Given the description of an element on the screen output the (x, y) to click on. 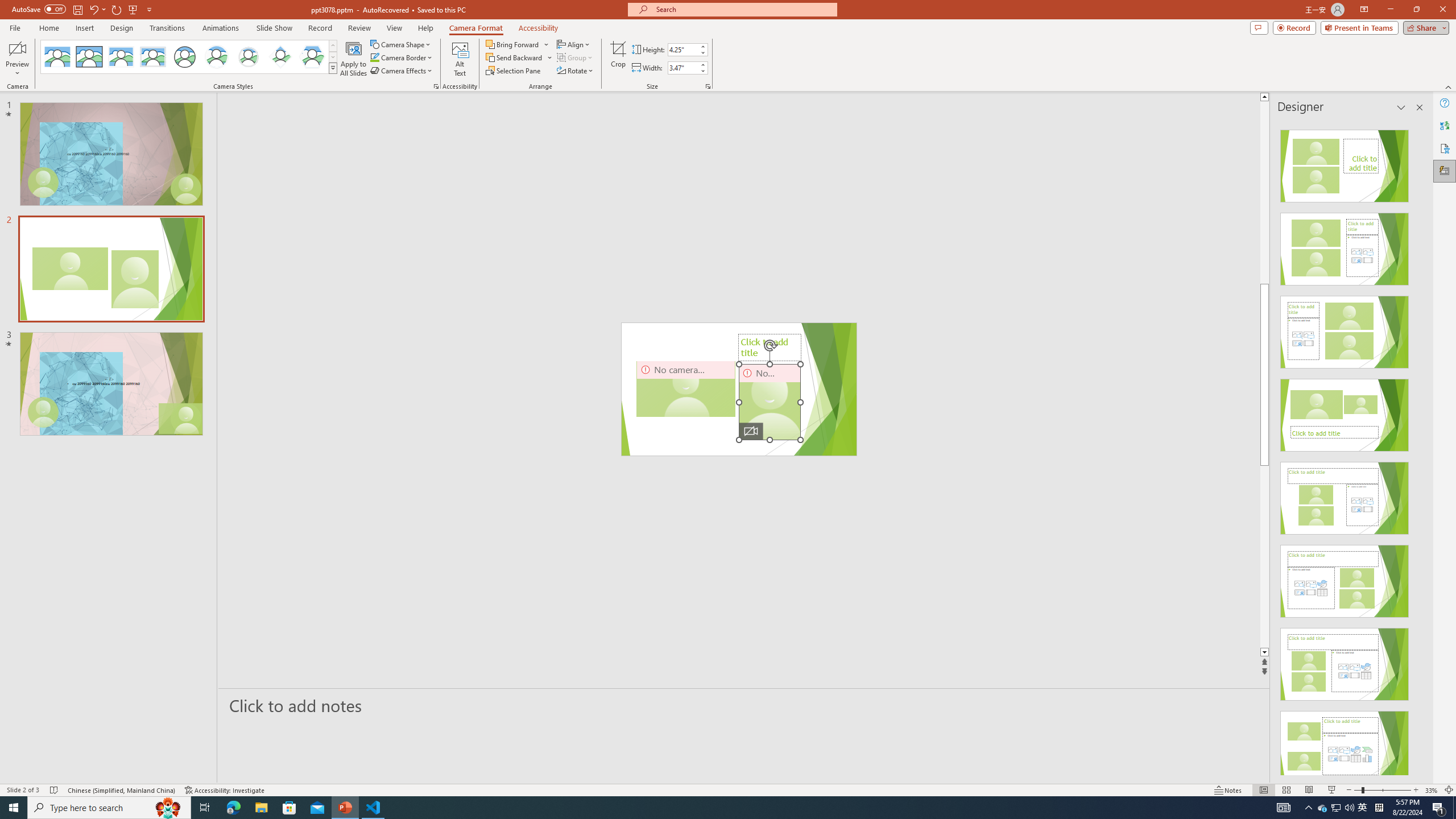
Camera Styles (333, 67)
Camera Format (475, 28)
Zoom 33% (1431, 790)
Center Shadow Hexagon (312, 56)
Cameo Width (682, 67)
Camera 5, No camera detected. (770, 401)
Send Backward (518, 56)
